Given the description of an element on the screen output the (x, y) to click on. 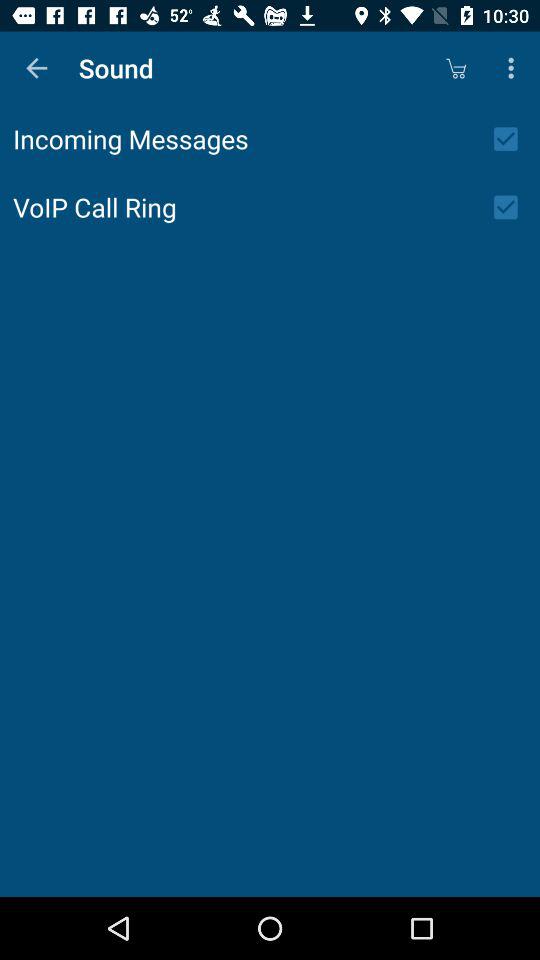
turn off item to the right of sound app (455, 67)
